Given the description of an element on the screen output the (x, y) to click on. 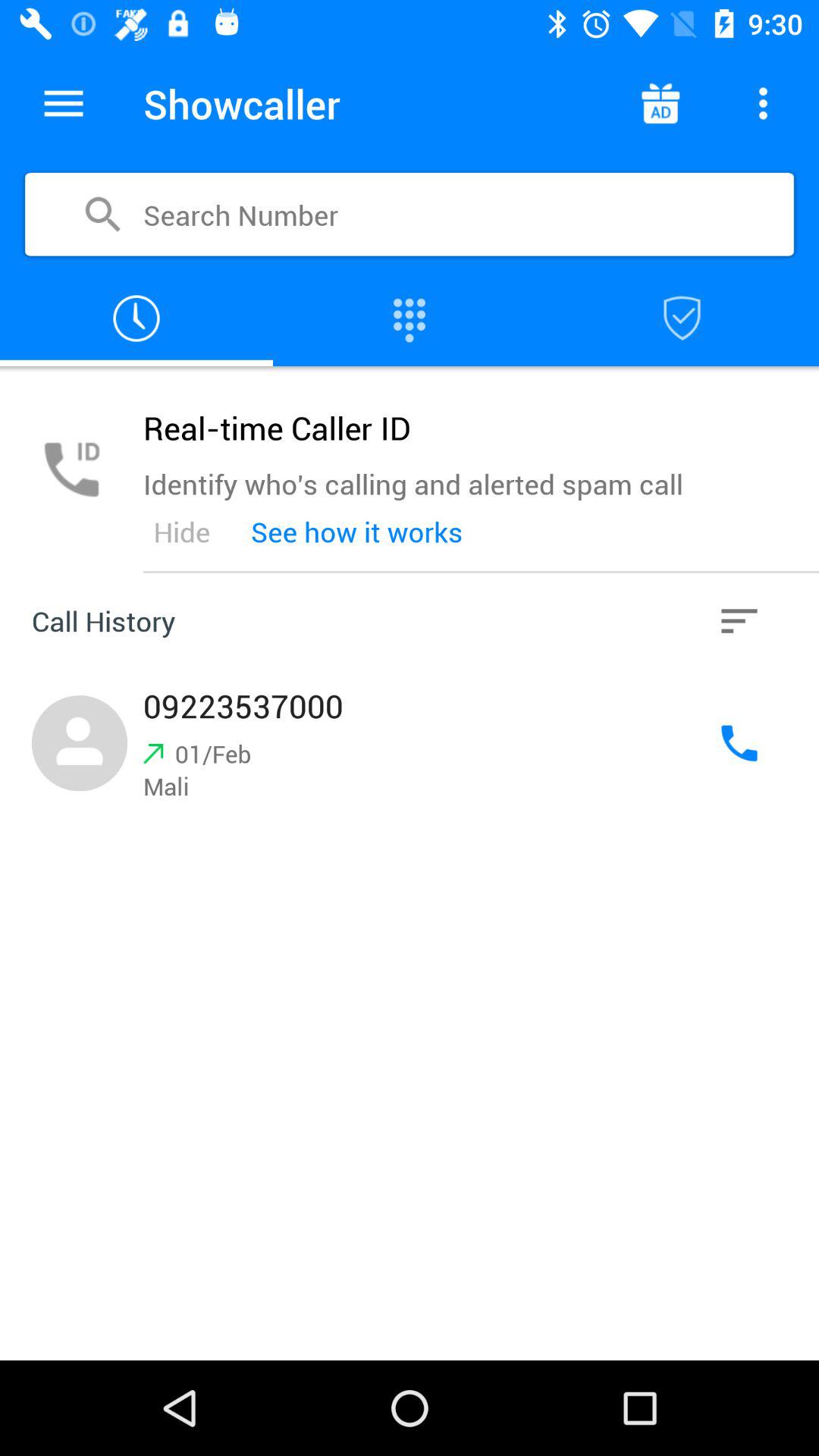
call contact (739, 743)
